Given the description of an element on the screen output the (x, y) to click on. 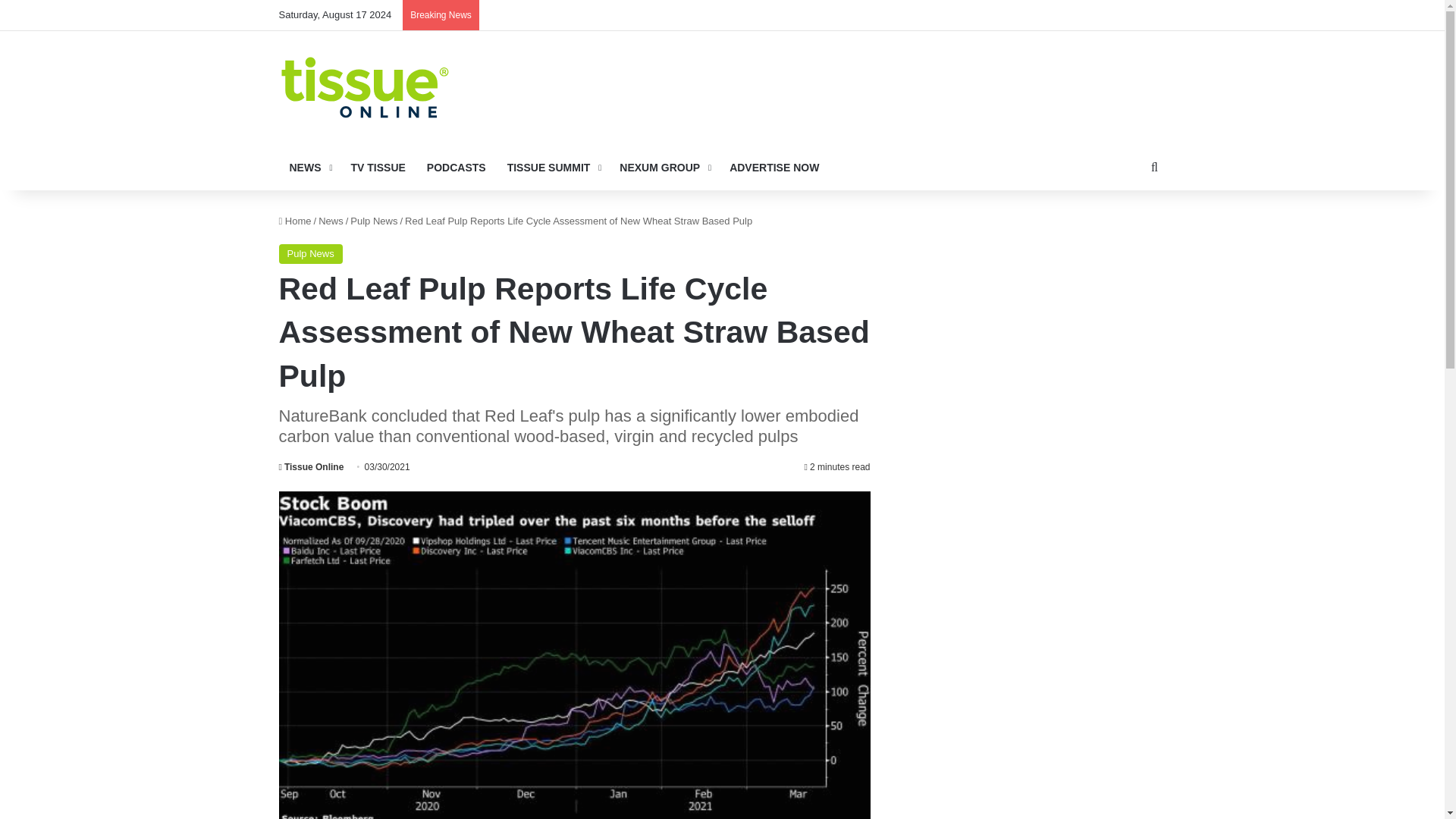
NEXUM GROUP (663, 167)
Tissue Online (311, 466)
Pulp News (310, 253)
Pulp News (373, 220)
TISSUE SUMMIT (553, 167)
Home (295, 220)
ADVERTISE NOW (774, 167)
Tissue Online (311, 466)
NEWS (309, 167)
News (330, 220)
